Given the description of an element on the screen output the (x, y) to click on. 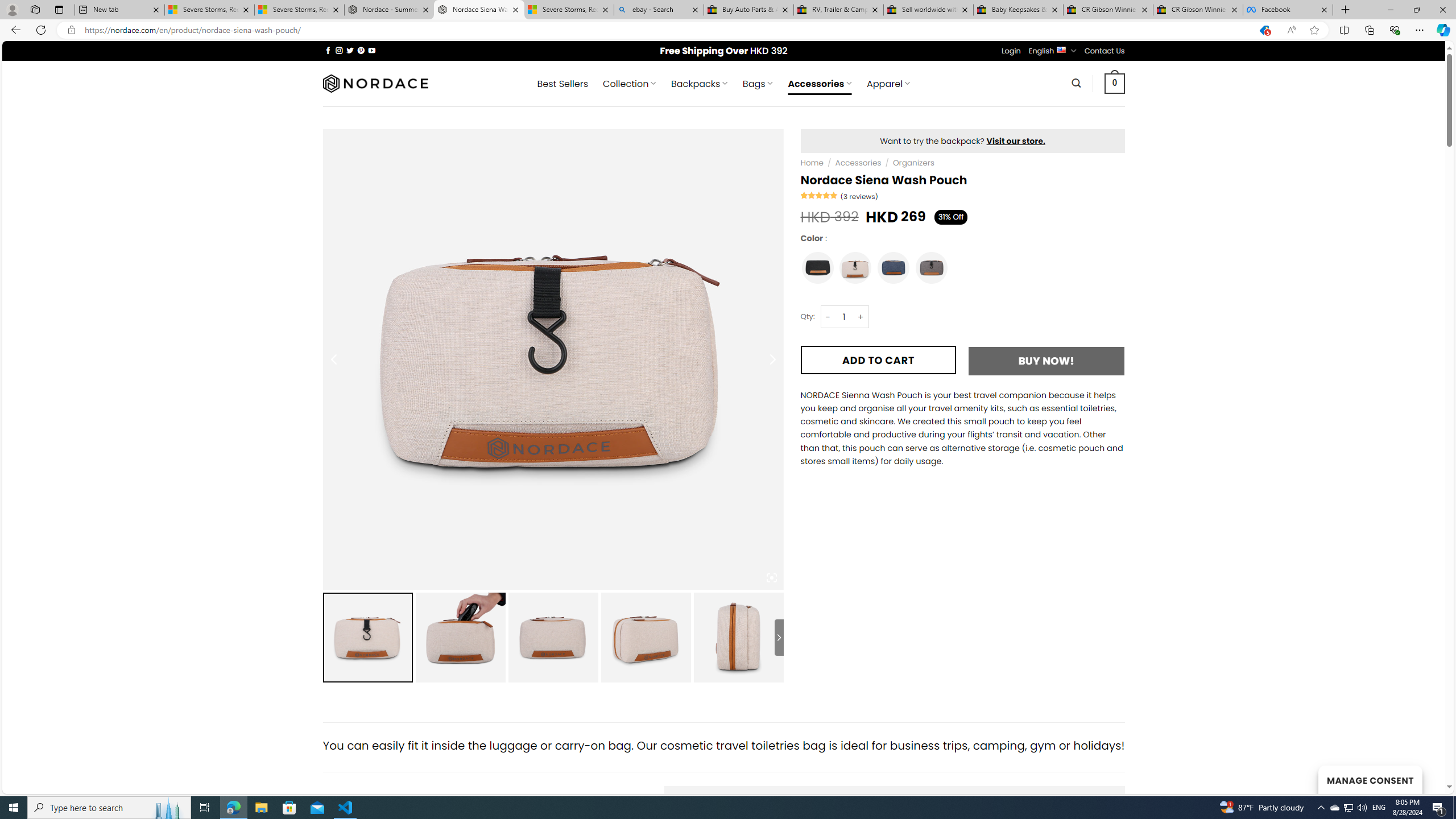
Class: iconic-woothumbs-fullscreen (771, 577)
Home (812, 162)
Nordace Siena Wash Pouch (478, 9)
- (827, 316)
Follow on Facebook (327, 49)
Login (1010, 50)
